Given the description of an element on the screen output the (x, y) to click on. 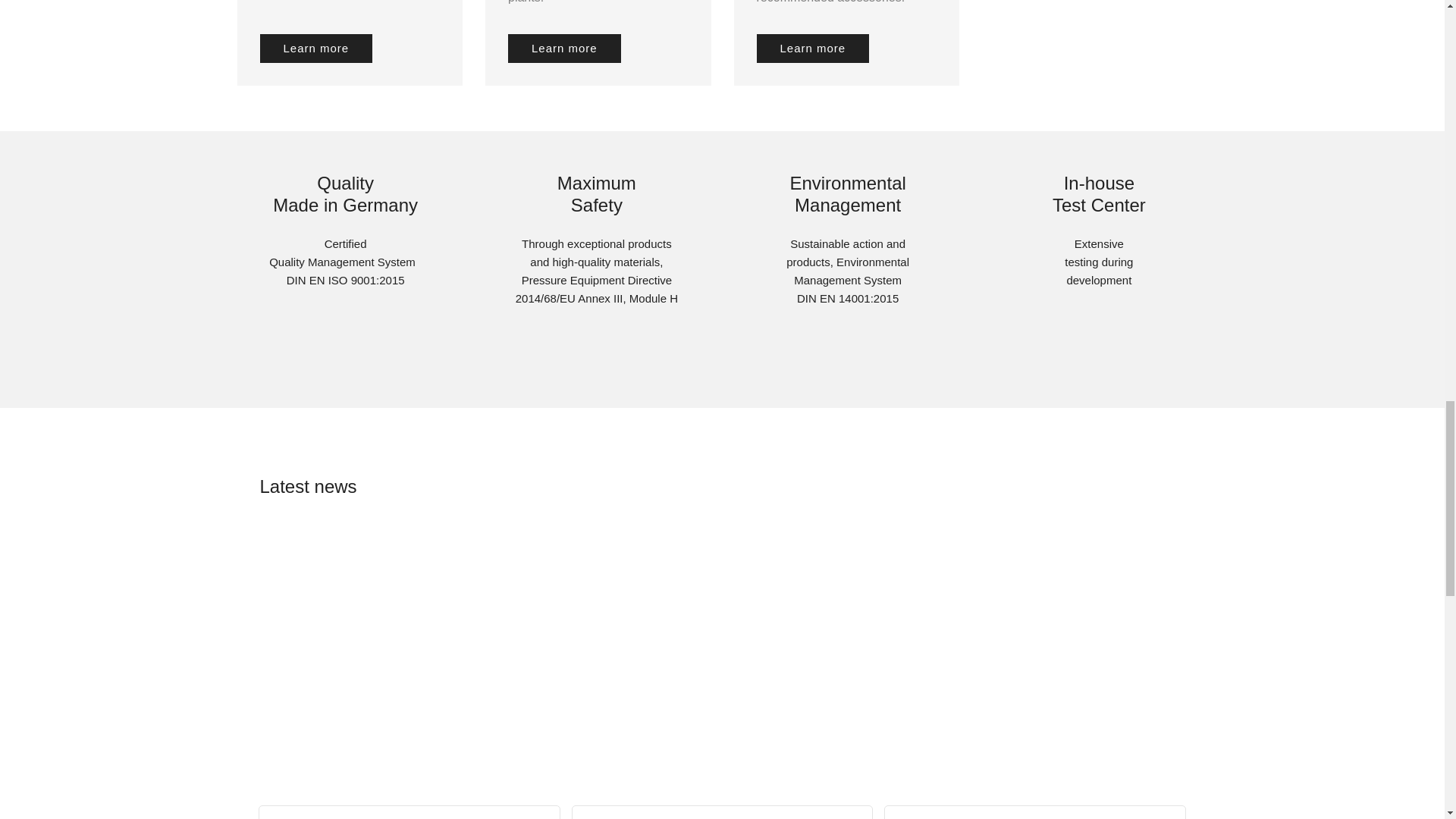
Learn more (813, 48)
Learn more (564, 48)
Learn more (315, 48)
